Given the description of an element on the screen output the (x, y) to click on. 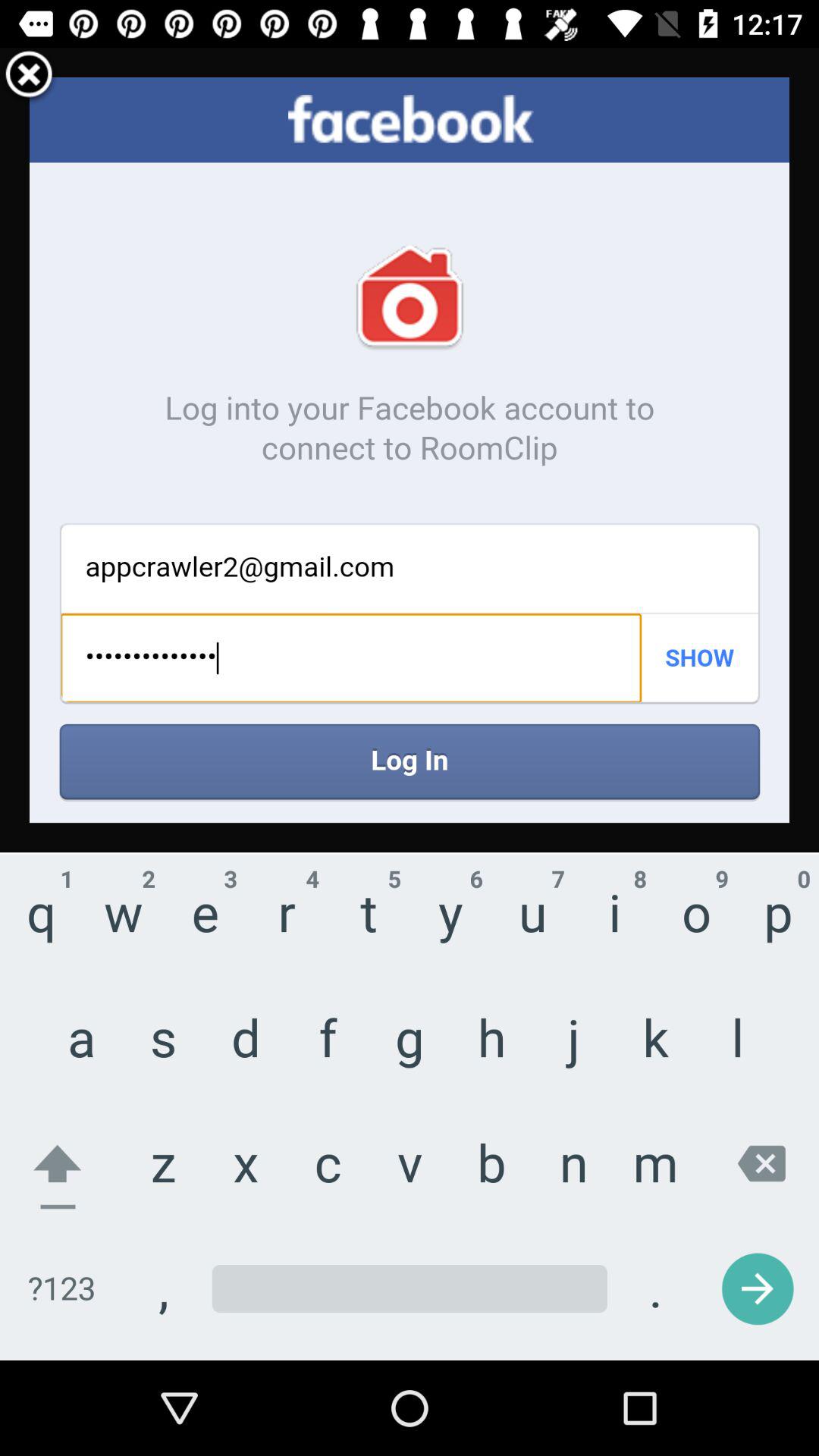
this button in exit key (29, 76)
